Given the description of an element on the screen output the (x, y) to click on. 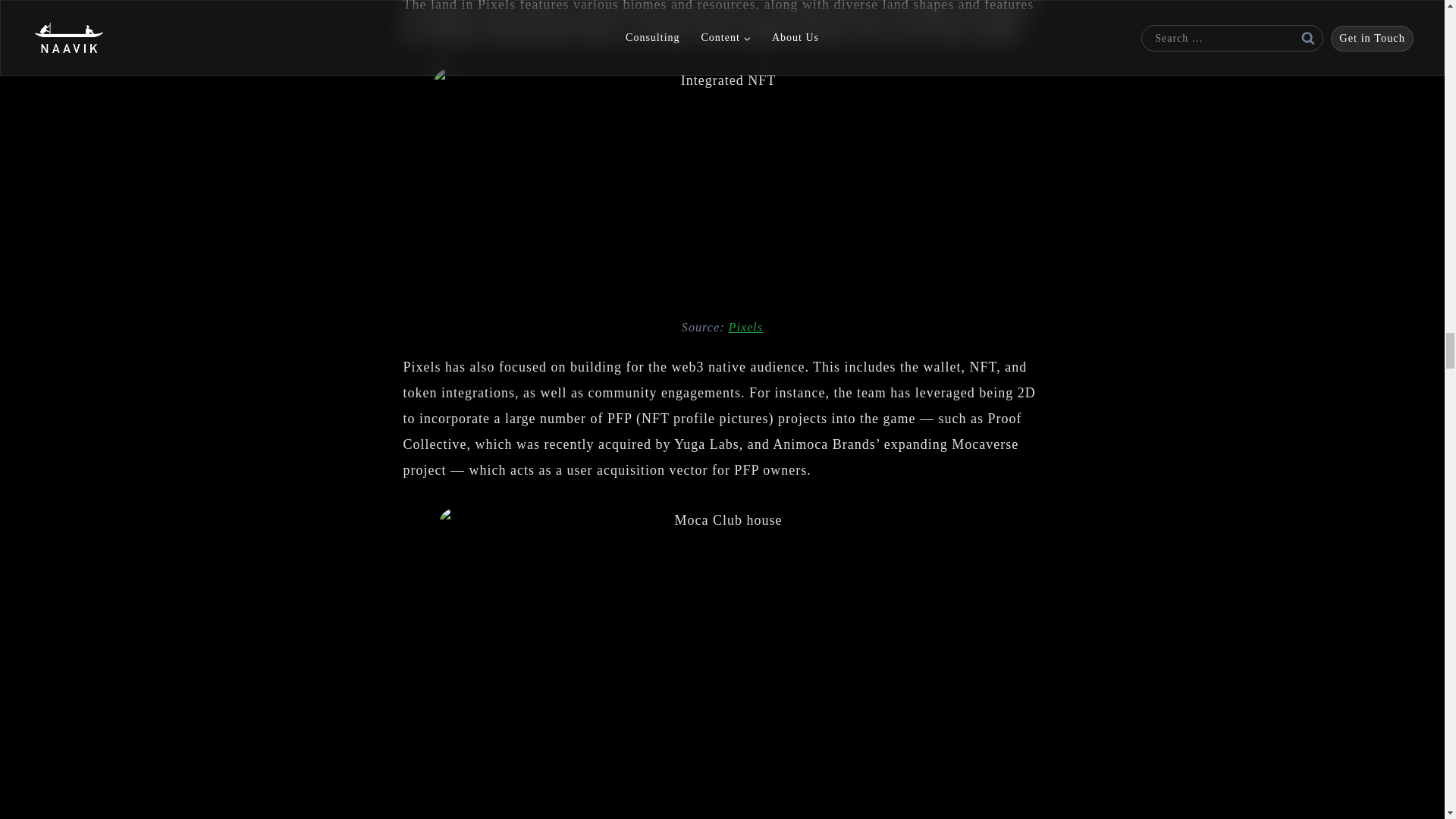
Pixels (745, 327)
